Given the description of an element on the screen output the (x, y) to click on. 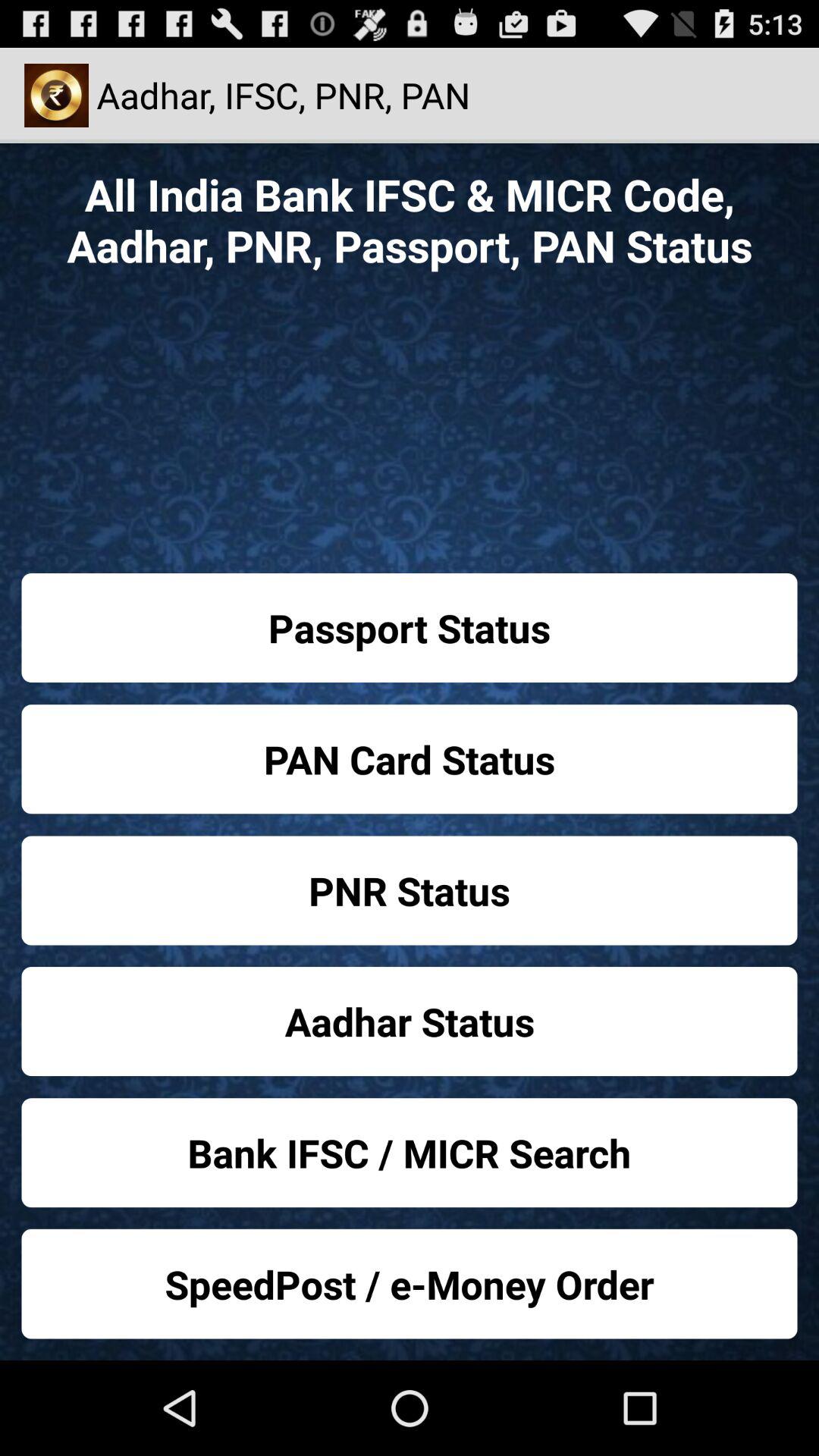
flip to speedpost e money button (409, 1283)
